Given the description of an element on the screen output the (x, y) to click on. 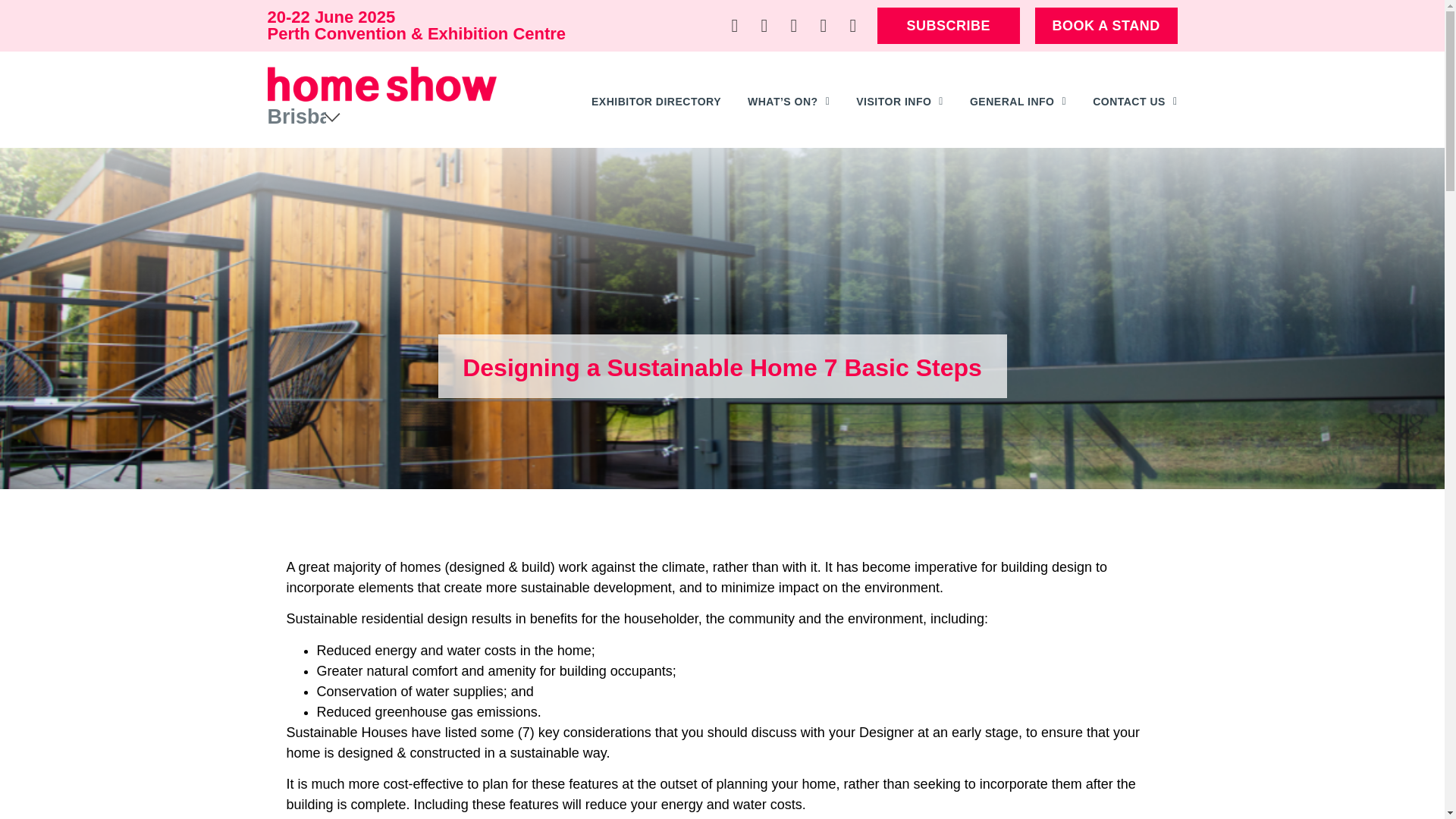
EXHIBITOR DIRECTORY (655, 101)
CONTACT US (1134, 101)
BOOK A STAND (1106, 25)
GENERAL INFO (1017, 101)
SUBSCRIBE (948, 25)
VISITOR INFO (899, 101)
